Given the description of an element on the screen output the (x, y) to click on. 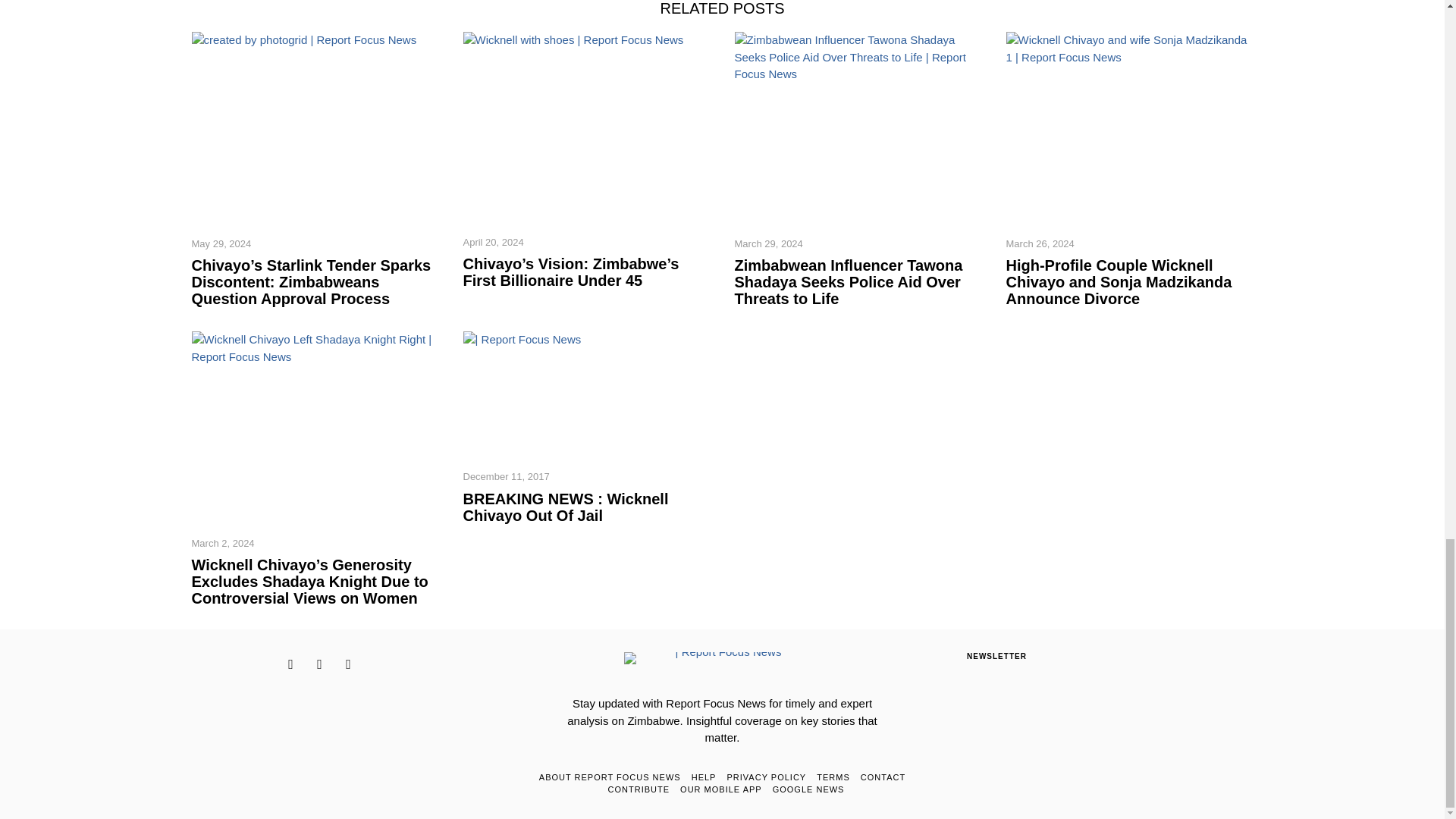
29 May, 2024 13:53:38 (220, 243)
26 Mar, 2024 16:59:12 (1040, 243)
20 Apr, 2024 10:48:27 (492, 242)
29 Mar, 2024 10:27:35 (767, 243)
